Given the description of an element on the screen output the (x, y) to click on. 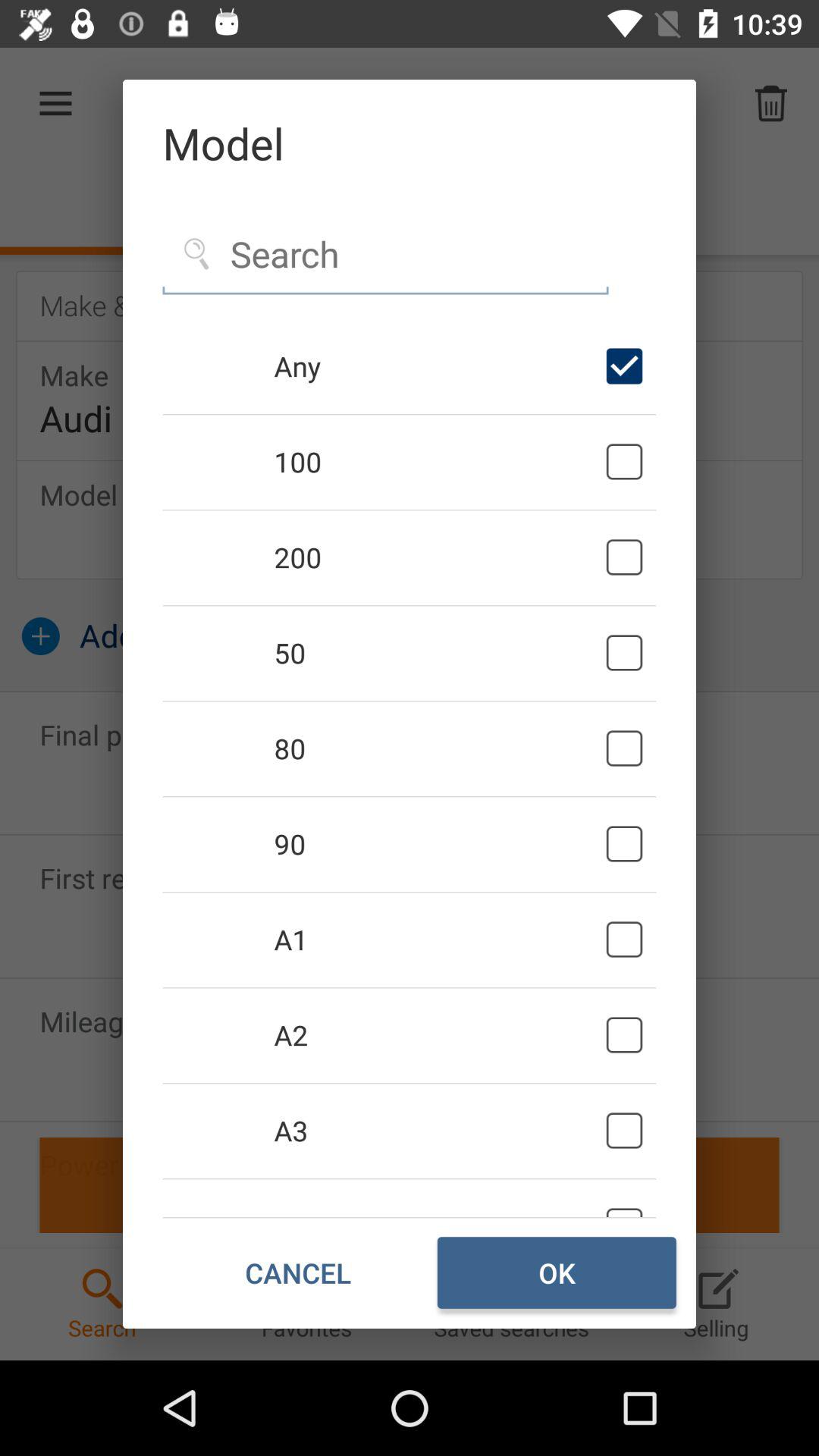
turn on icon below any icon (437, 461)
